Given the description of an element on the screen output the (x, y) to click on. 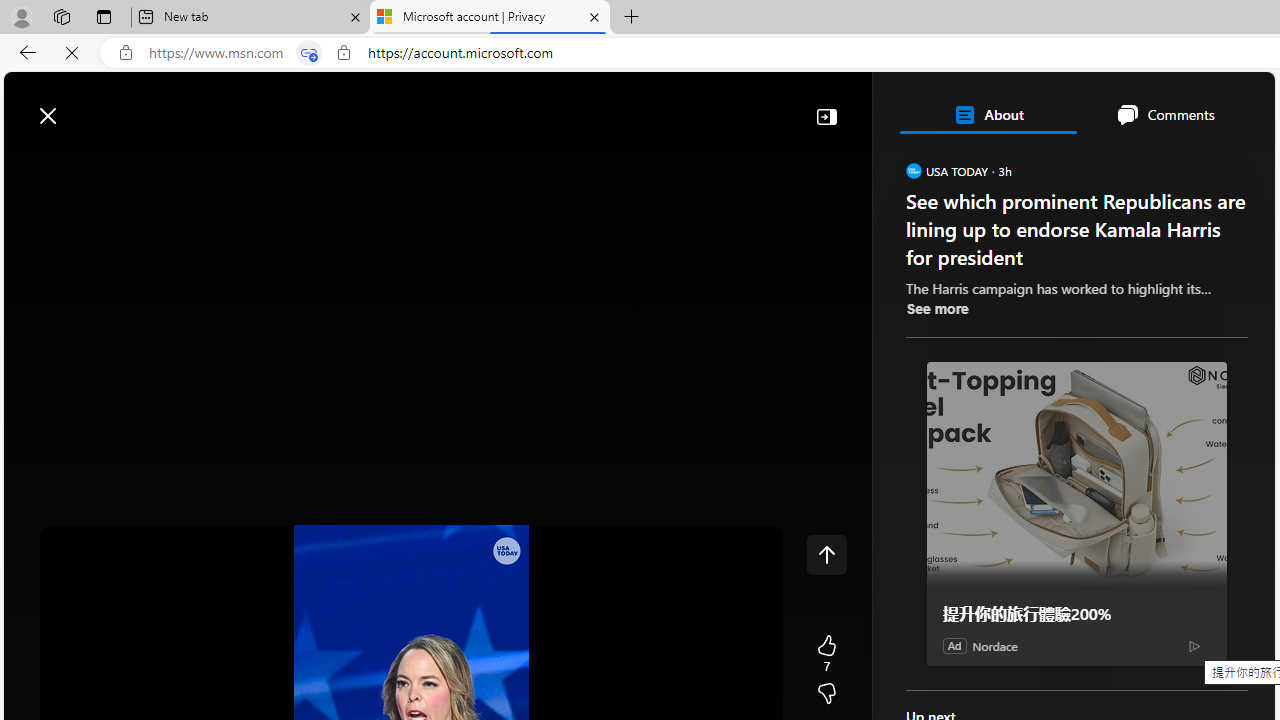
Comments (1165, 114)
Class: control icon-only (826, 554)
Collapse (826, 115)
